Given the description of an element on the screen output the (x, y) to click on. 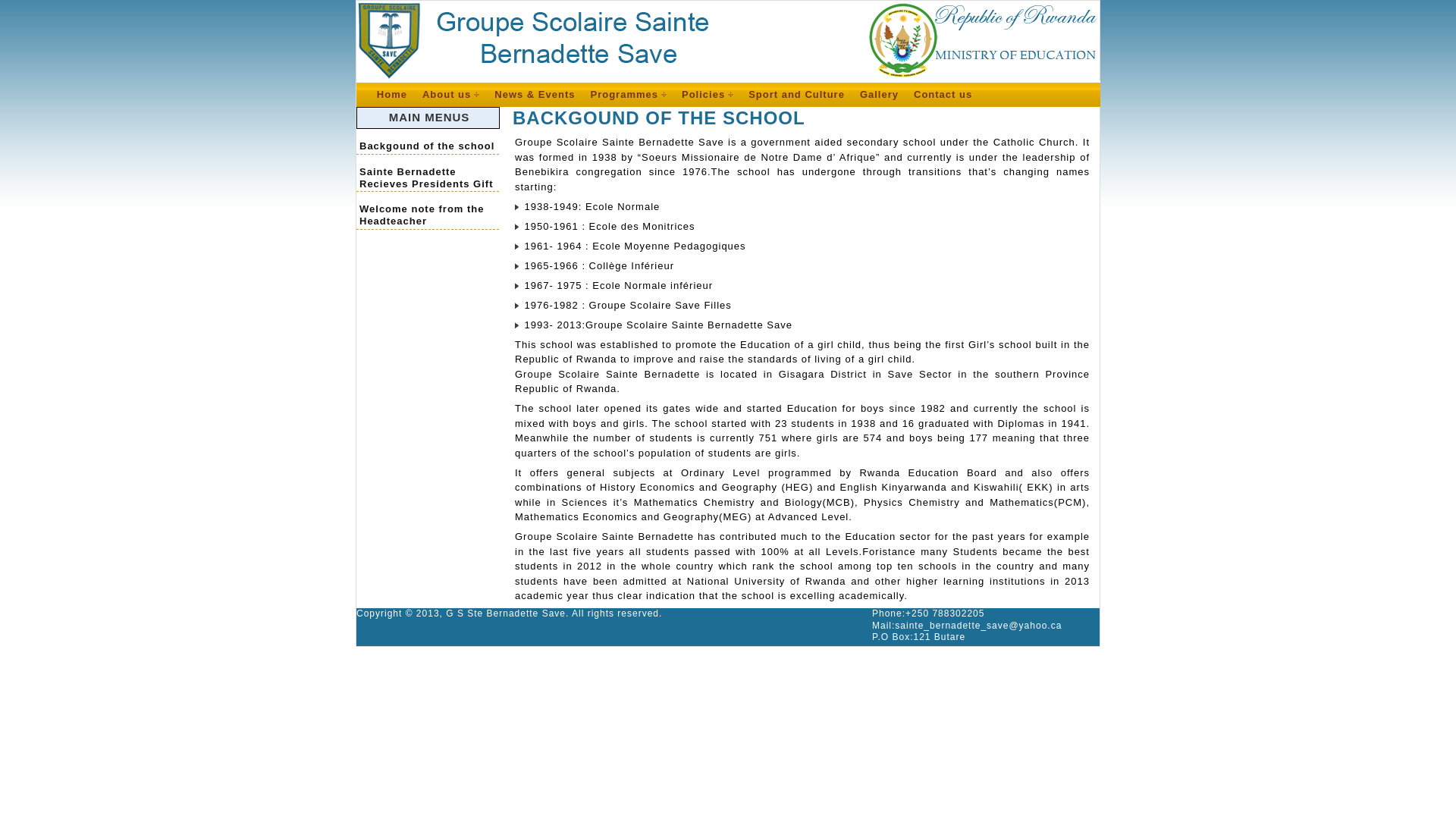
Welcome note from the Headteacher (427, 210)
Sainte Bernadette Recieves Presidents Gift (427, 172)
Sport and Culture (796, 94)
About us (450, 94)
Programmes (627, 94)
Home (391, 94)
Contact us (942, 94)
Home (391, 94)
Policies (707, 94)
Gallery (879, 94)
Backgound of the school (427, 141)
